Given the description of an element on the screen output the (x, y) to click on. 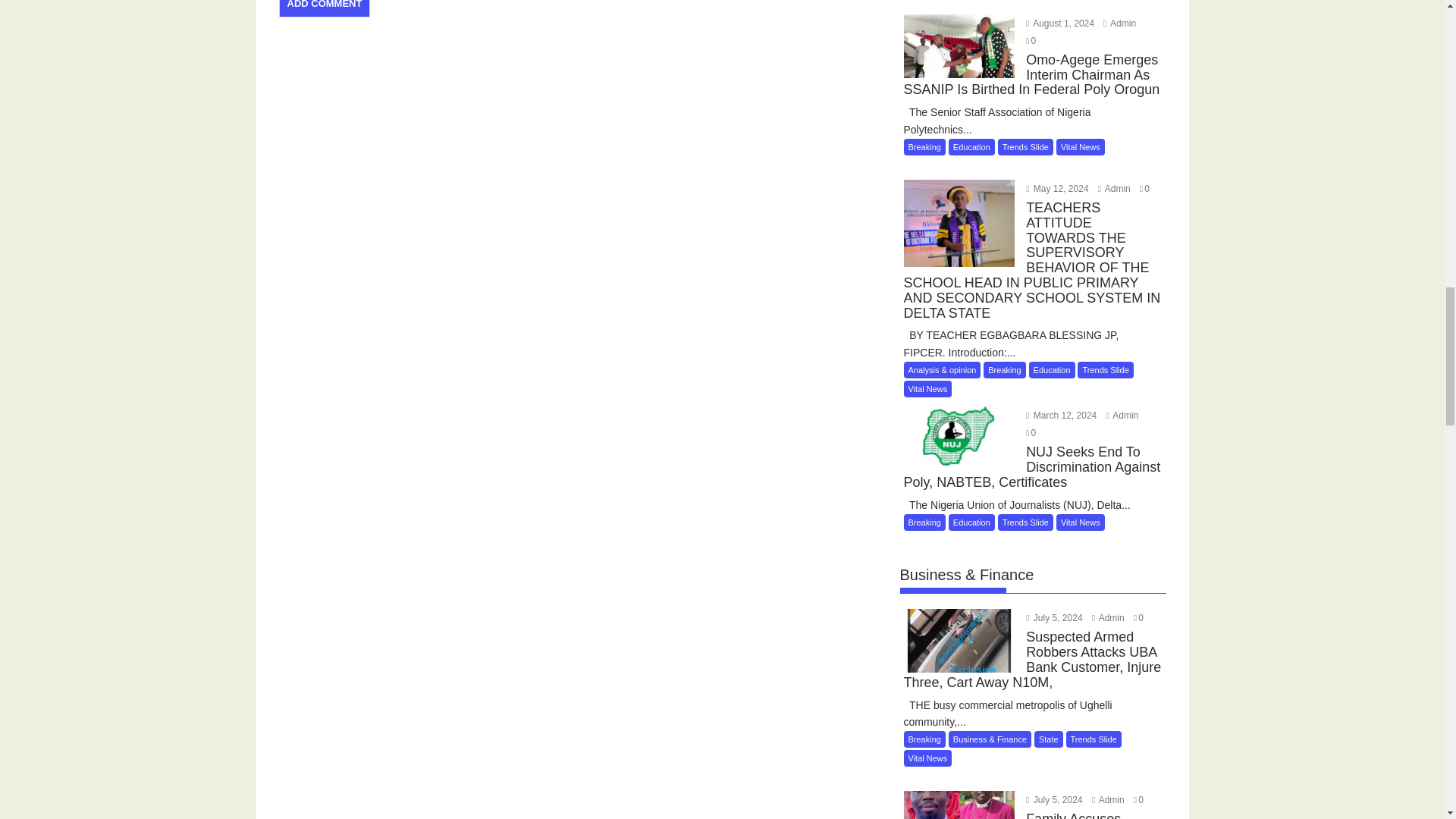
Add Comment (325, 8)
